Given the description of an element on the screen output the (x, y) to click on. 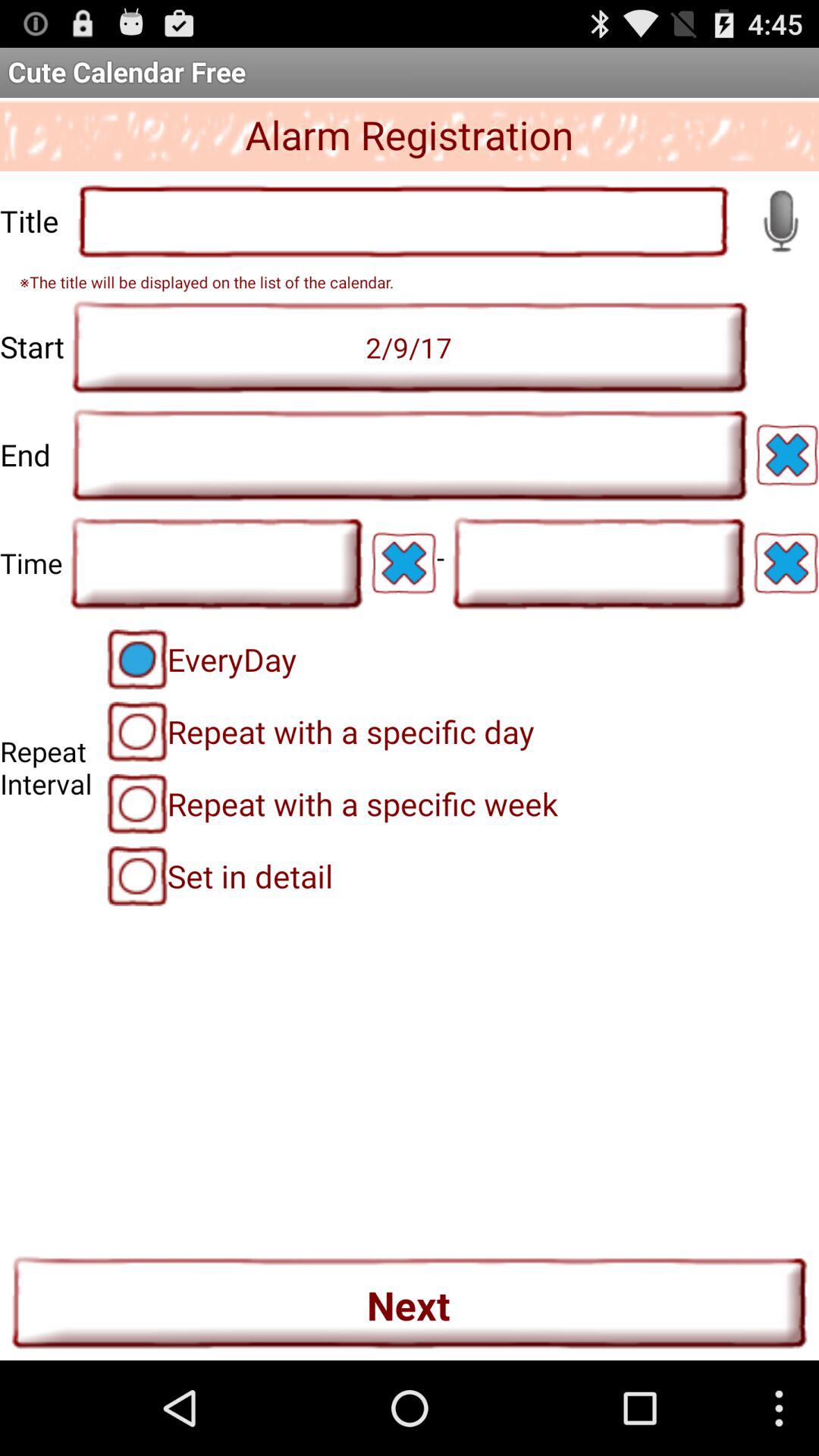
launch item next to start (409, 346)
